Given the description of an element on the screen output the (x, y) to click on. 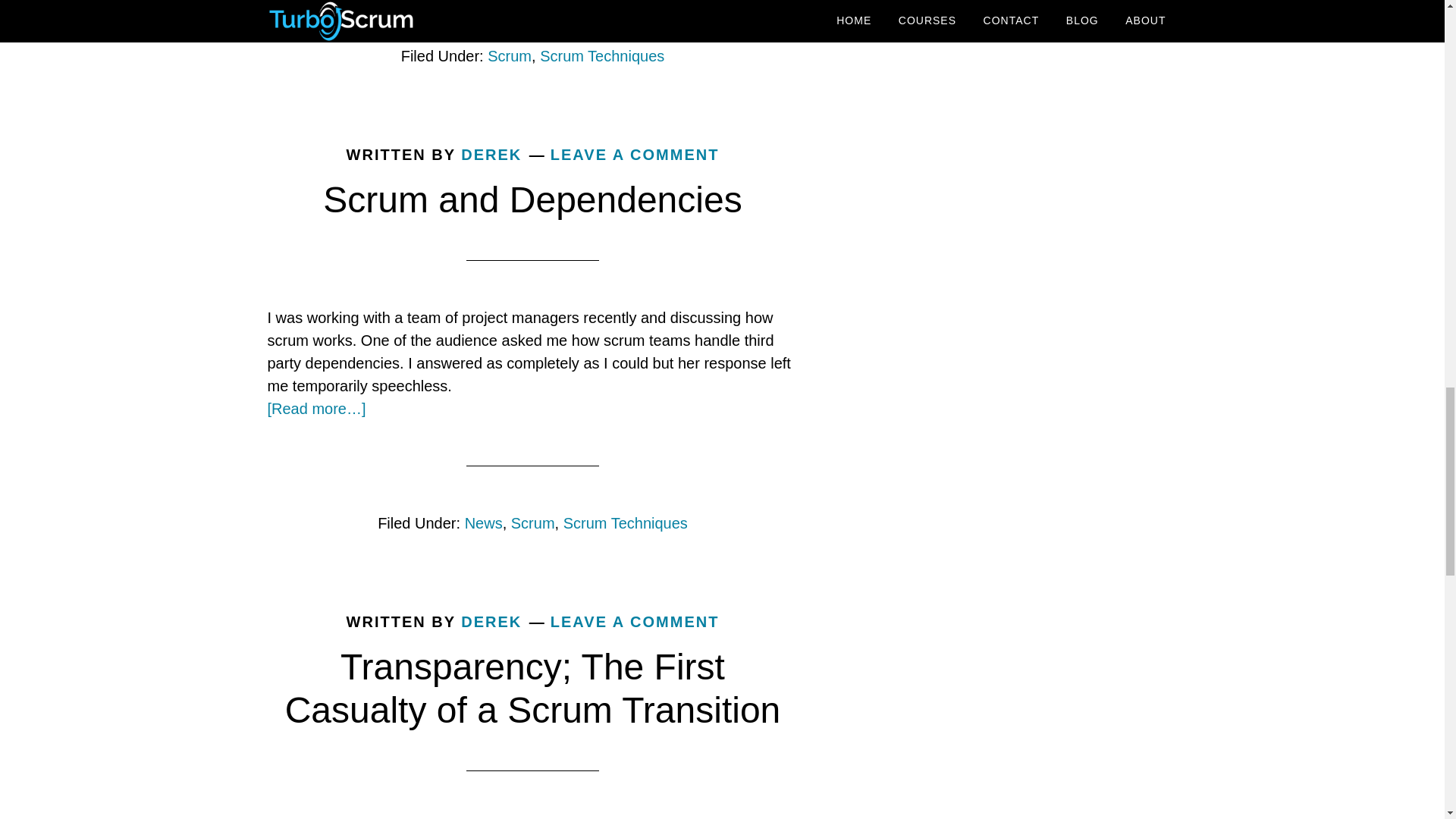
Scrum (509, 55)
Scrum Techniques (625, 523)
DEREK (491, 154)
Scrum Techniques (601, 55)
DEREK (491, 621)
Scrum (532, 523)
LEAVE A COMMENT (634, 154)
Transparency; The First Casualty of a Scrum Transition (532, 689)
Scrum and Dependencies (532, 199)
LEAVE A COMMENT (634, 621)
